Given the description of an element on the screen output the (x, y) to click on. 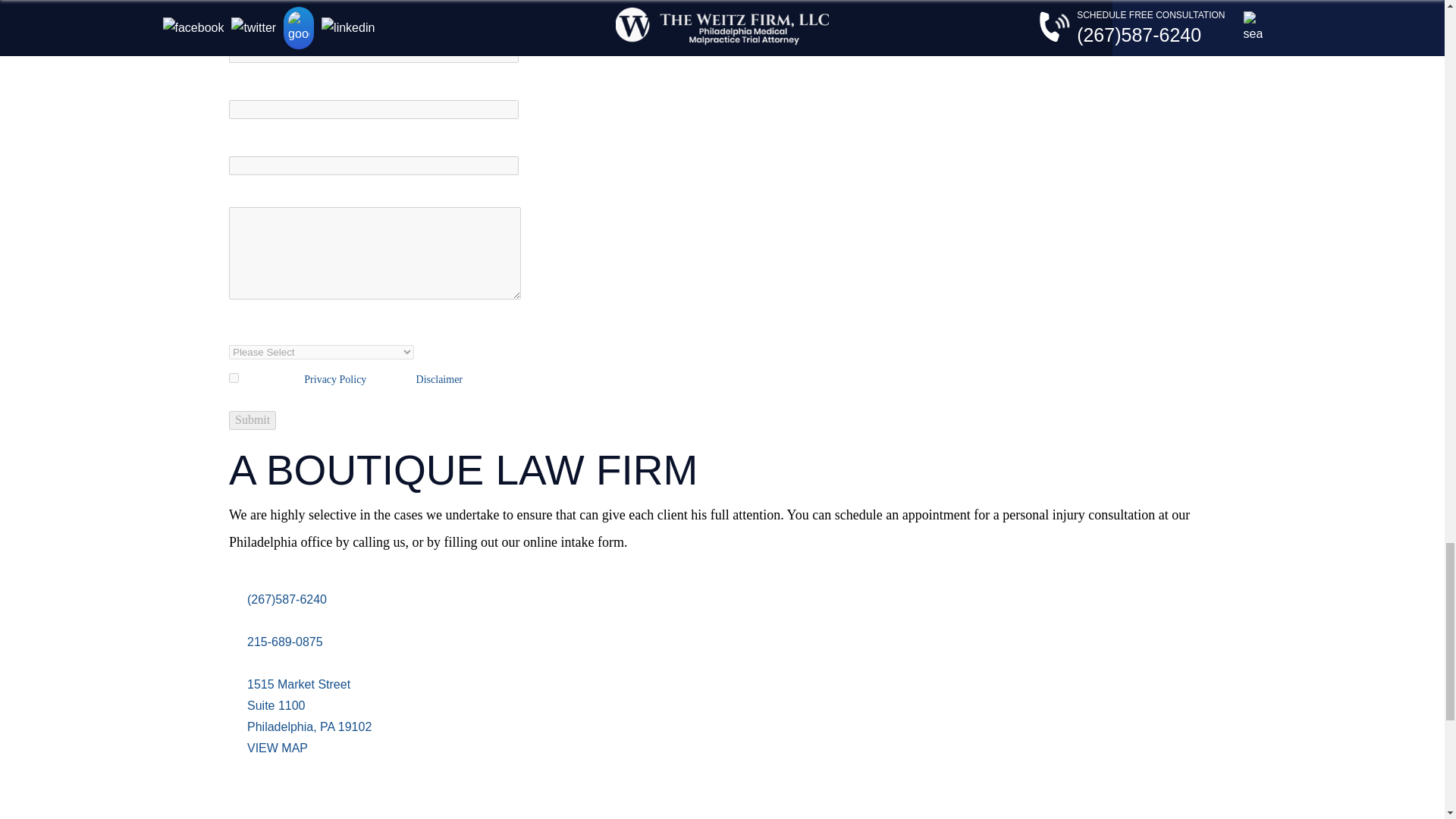
1 (233, 378)
Submit (252, 420)
